Given the description of an element on the screen output the (x, y) to click on. 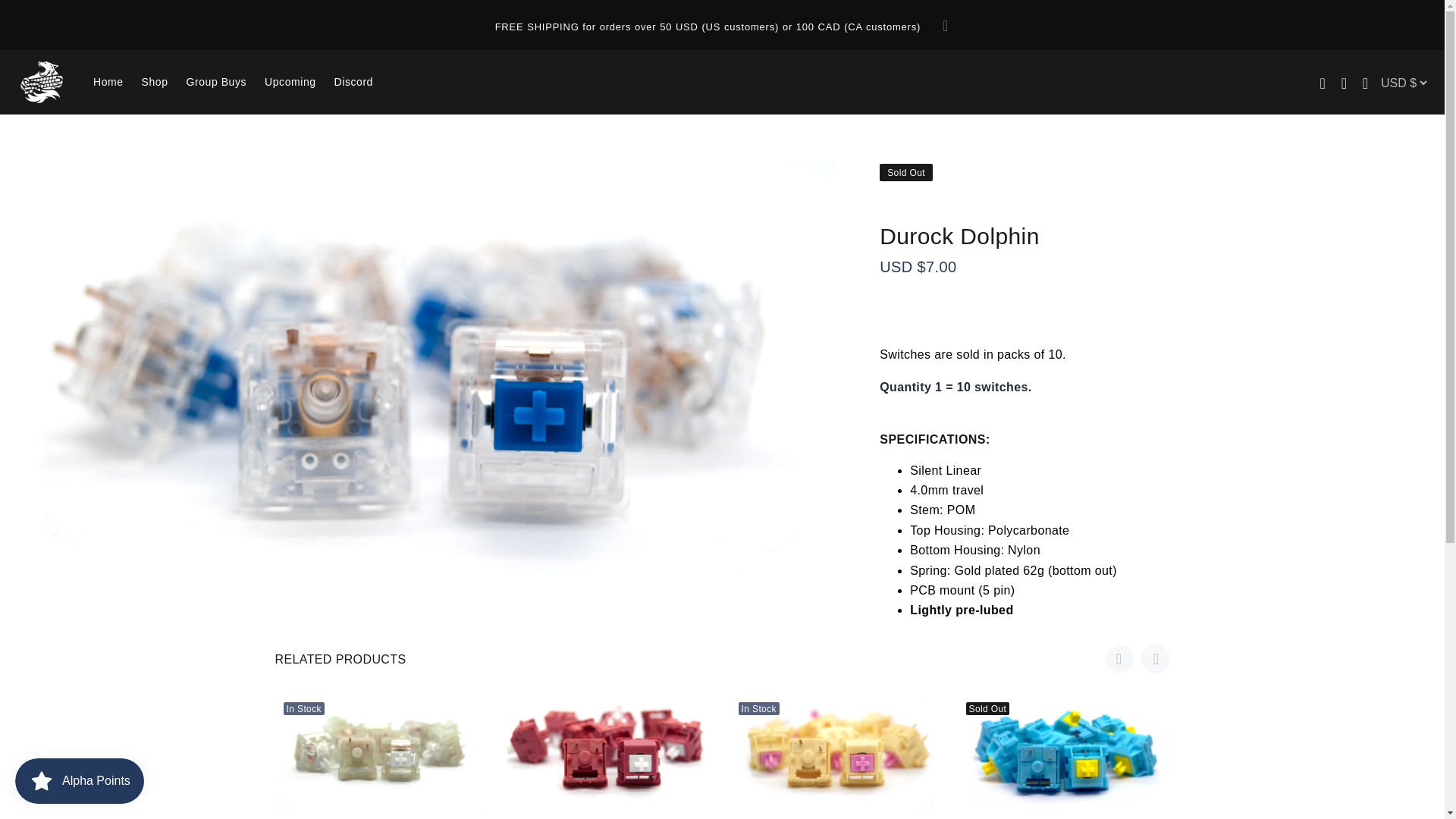
Upcoming (290, 82)
Home (108, 82)
Discord (348, 82)
Shop (154, 82)
Group Buys (216, 82)
Smile.io Rewards Program Launcher (79, 780)
